Given the description of an element on the screen output the (x, y) to click on. 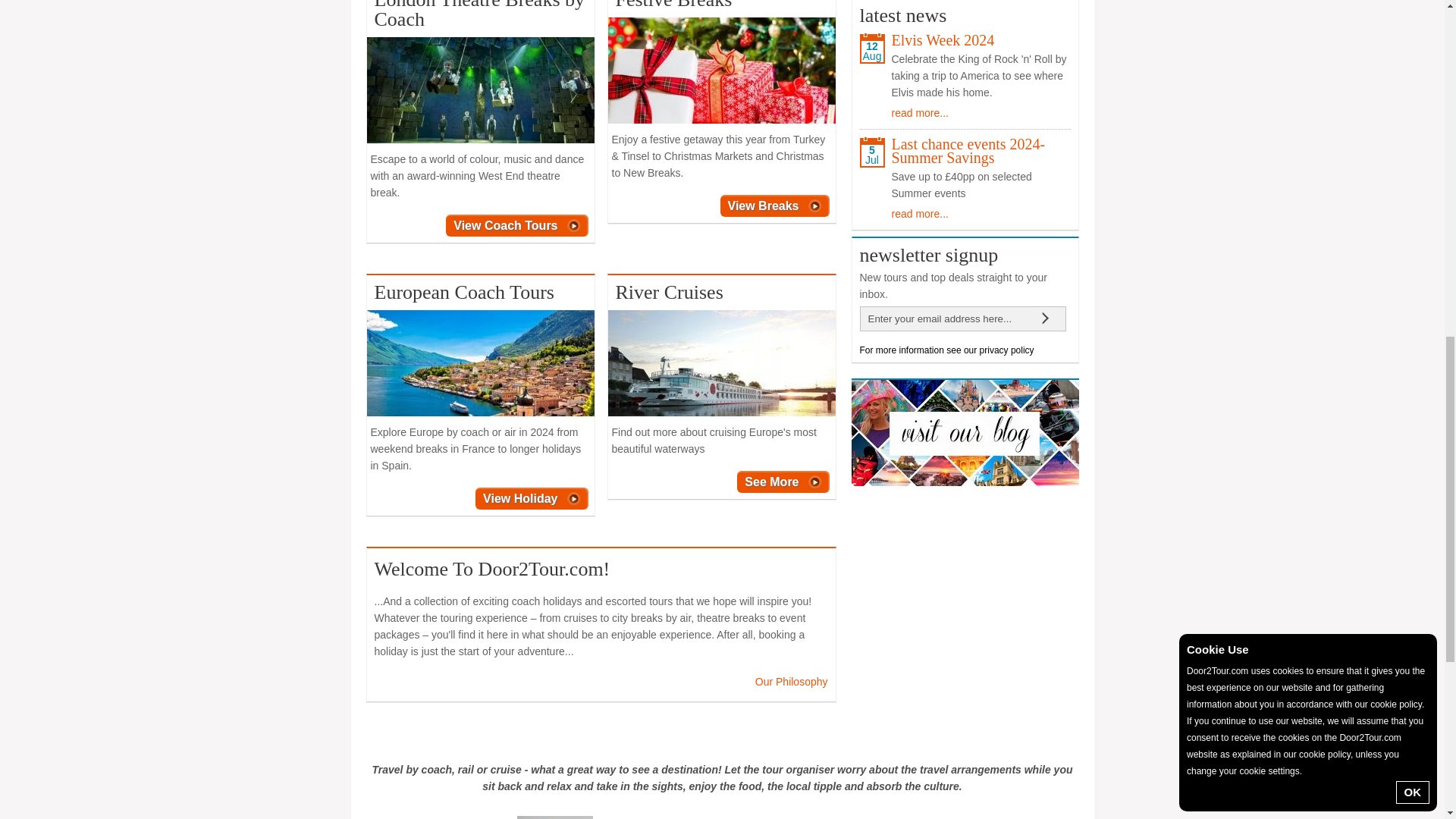
MD Photo (554, 817)
blog image (964, 433)
Enter your email address here... (945, 318)
